Given the description of an element on the screen output the (x, y) to click on. 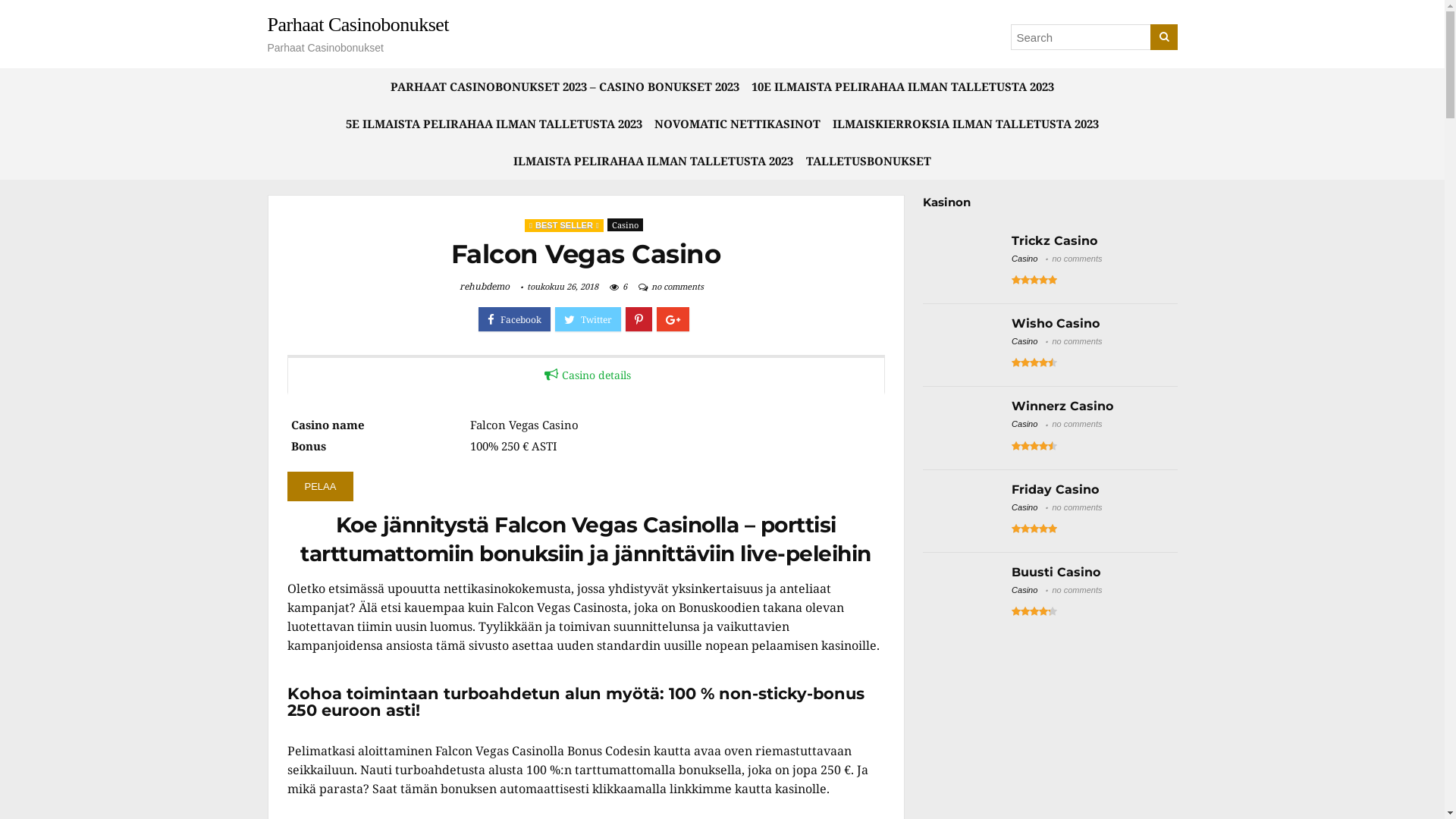
TALLETUSBONUKSET Element type: text (868, 160)
ILMAISTA PELIRAHAA ILMAN TALLETUSTA 2023 Element type: text (652, 160)
Casino Element type: text (1024, 589)
Casino Element type: text (625, 224)
Friday Casino Element type: text (1054, 489)
Wisho Casino Element type: text (1055, 323)
Casino Element type: text (1024, 340)
Trickz Casino Element type: text (1054, 240)
NOVOMATIC NETTIKASINOT Element type: text (737, 123)
5E ILMAISTA PELIRAHAA ILMAN TALLETUSTA 2023 Element type: text (493, 123)
PELAA Element type: text (319, 486)
Casino Element type: text (1024, 423)
no comments Element type: text (1076, 340)
no comments Element type: text (1076, 506)
Winnerz Casino Element type: text (1062, 405)
Casino details Element type: text (585, 374)
rehubdemo Element type: text (484, 285)
Buusti Casino Element type: text (1055, 571)
Casino Element type: text (1024, 506)
ILMAISKIERROKSIA ILMAN TALLETUSTA 2023 Element type: text (965, 123)
no comments Element type: text (1076, 423)
no comments Element type: text (1076, 258)
no comments Element type: text (1076, 589)
10E ILMAISTA PELIRAHAA ILMAN TALLETUSTA 2023 Element type: text (902, 86)
Casino Element type: text (1024, 258)
no comments Element type: text (676, 285)
